Given the description of an element on the screen output the (x, y) to click on. 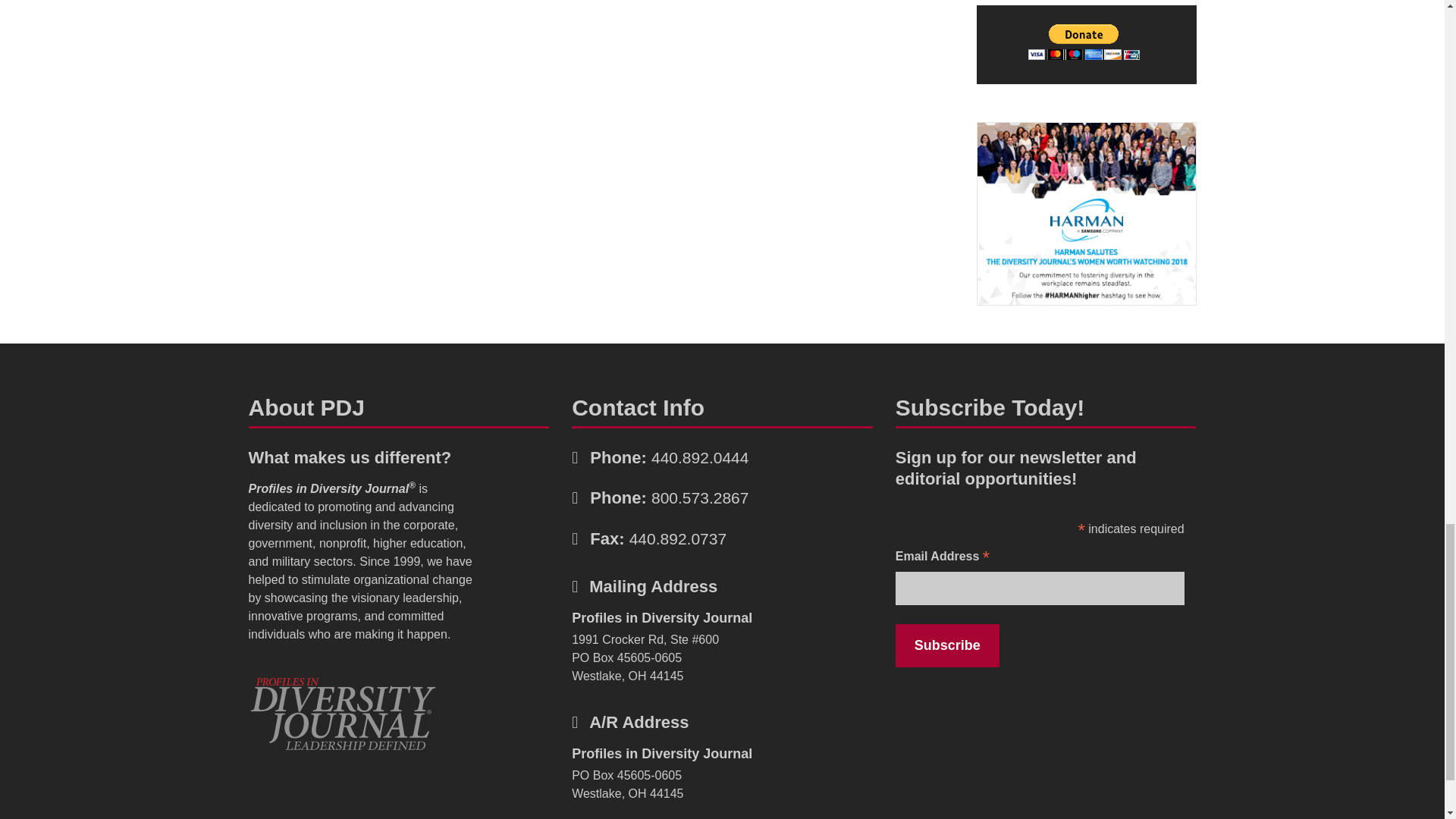
Subscribe (946, 645)
